Given the description of an element on the screen output the (x, y) to click on. 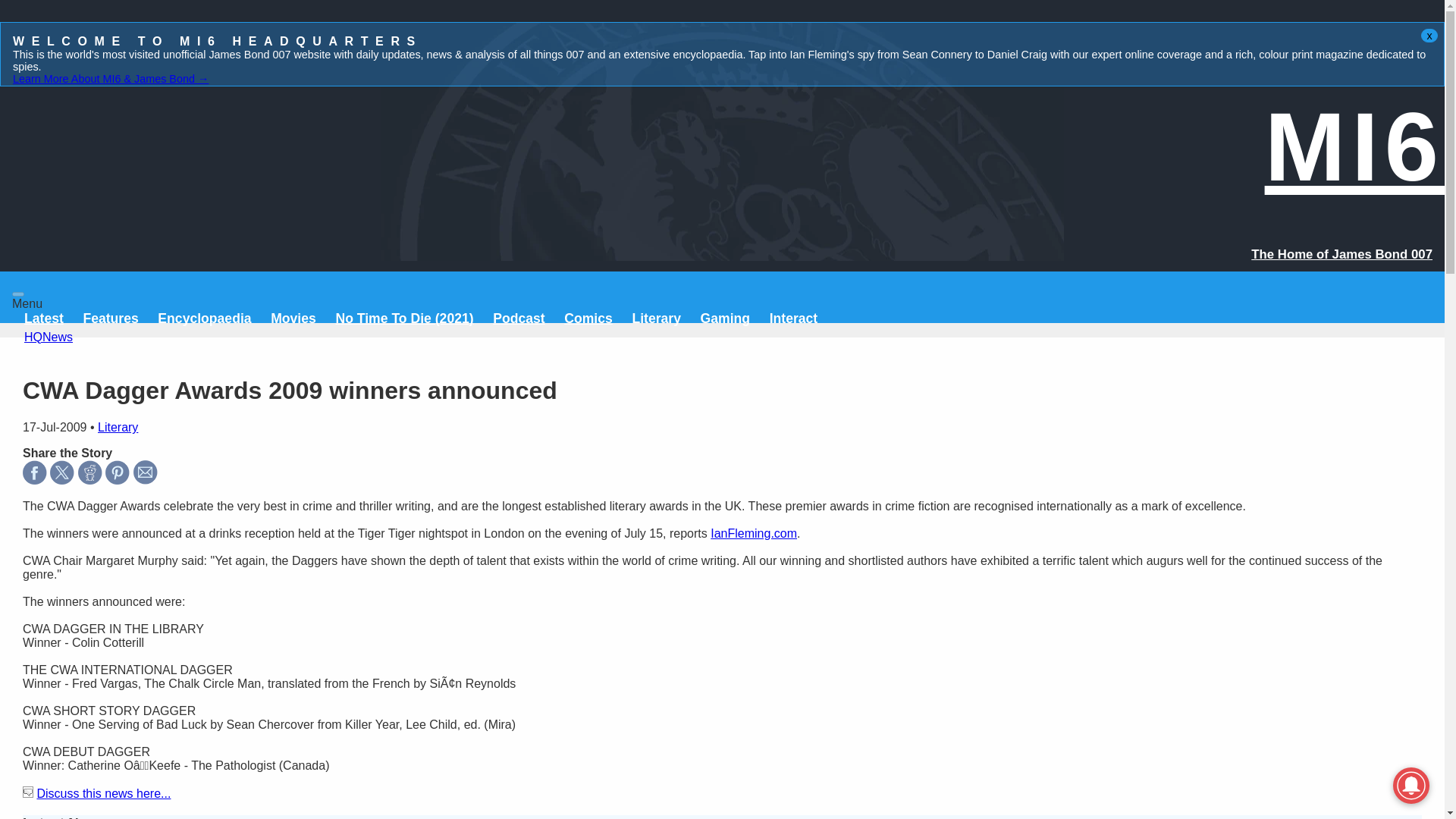
Gaming (725, 318)
Podcast (518, 318)
Interact (794, 318)
Encyclopaedia (203, 318)
Movies (292, 318)
The Home of James Bond 007 (1341, 254)
x (1429, 35)
Latest (44, 318)
Features (110, 318)
Literary (656, 318)
Comics (588, 318)
